Given the description of an element on the screen output the (x, y) to click on. 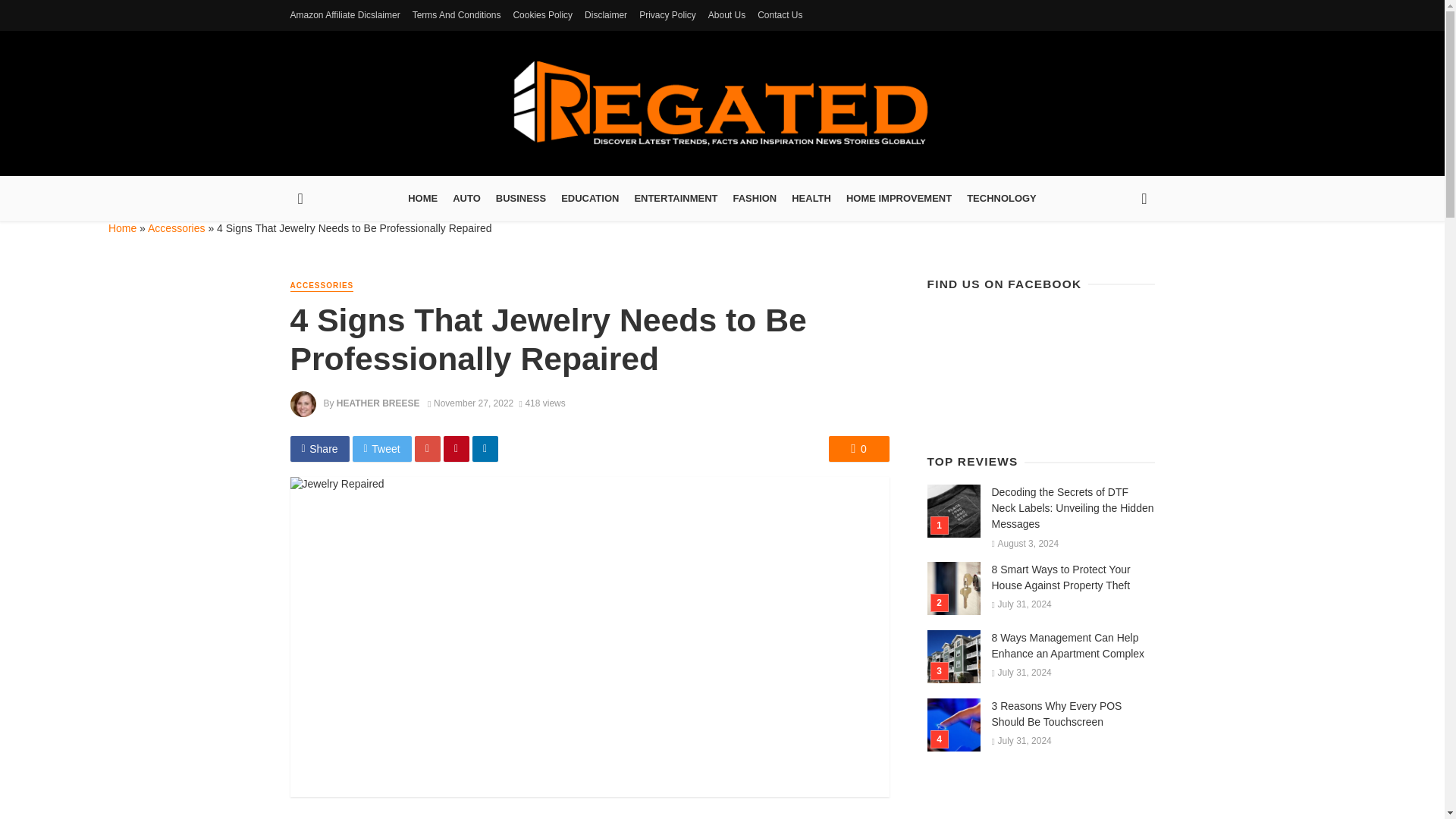
Share on Linkedin (484, 448)
Share on Pinterest (456, 448)
Share on Twitter (382, 448)
ENTERTAINMENT (675, 198)
ACCESSORIES (321, 285)
Disclaimer (605, 14)
Home (121, 227)
Accessories (176, 227)
AUTO (466, 198)
Tweet (382, 448)
